Given the description of an element on the screen output the (x, y) to click on. 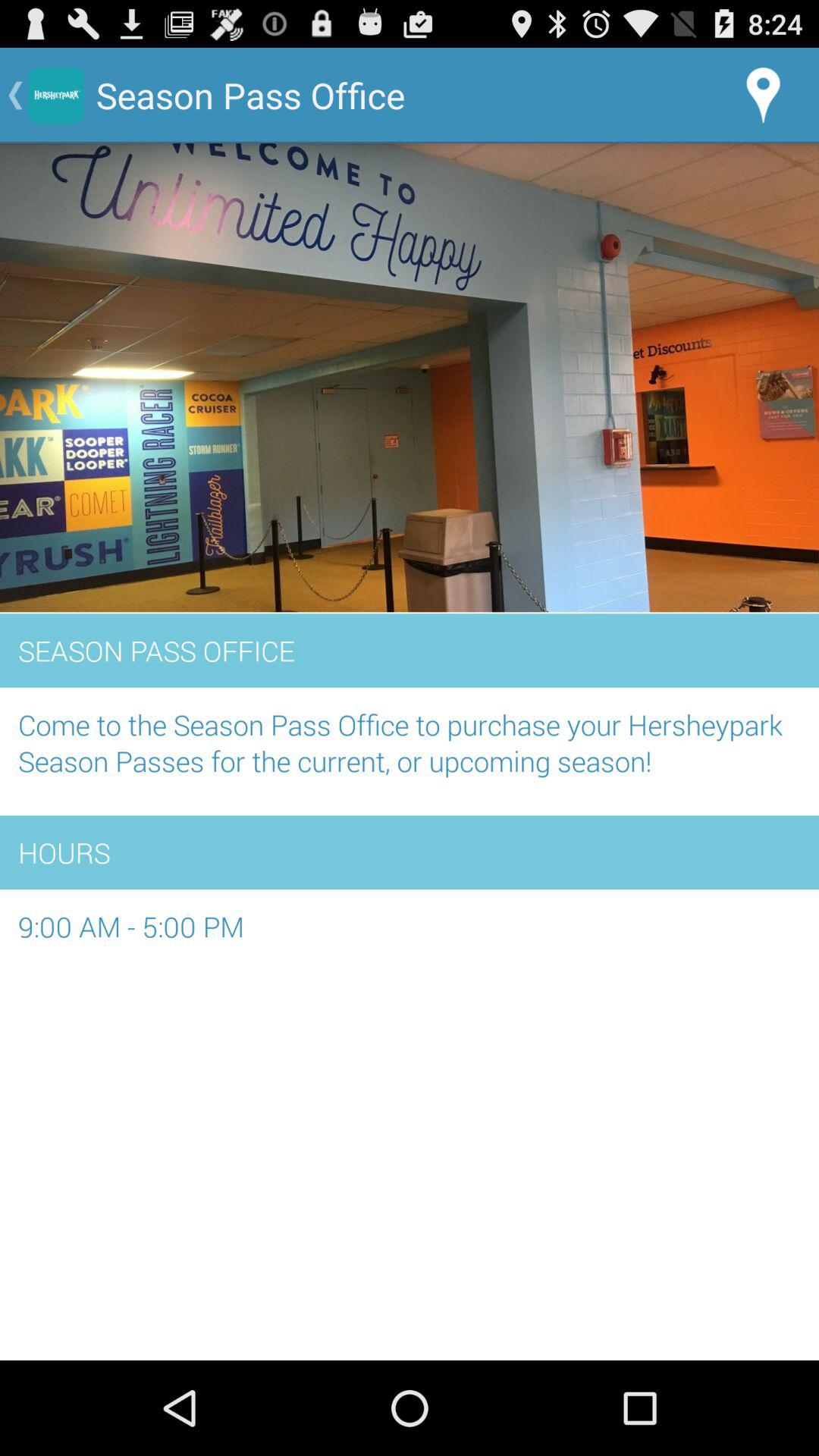
select app to the right of the season pass office app (763, 95)
